Given the description of an element on the screen output the (x, y) to click on. 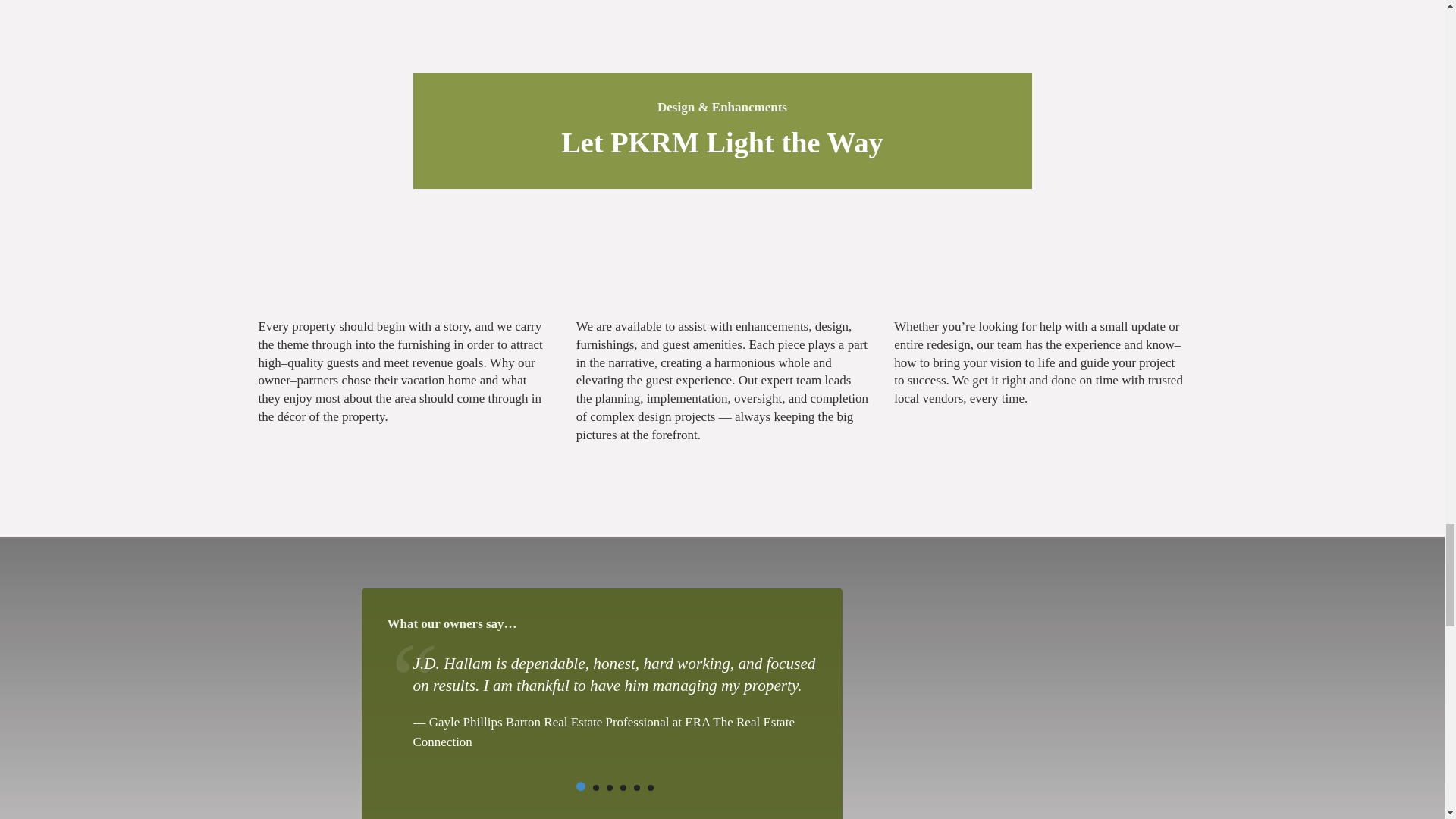
1 (580, 786)
6 (650, 787)
5 (636, 787)
4 (623, 787)
3 (609, 787)
2 (595, 787)
